Given the description of an element on the screen output the (x, y) to click on. 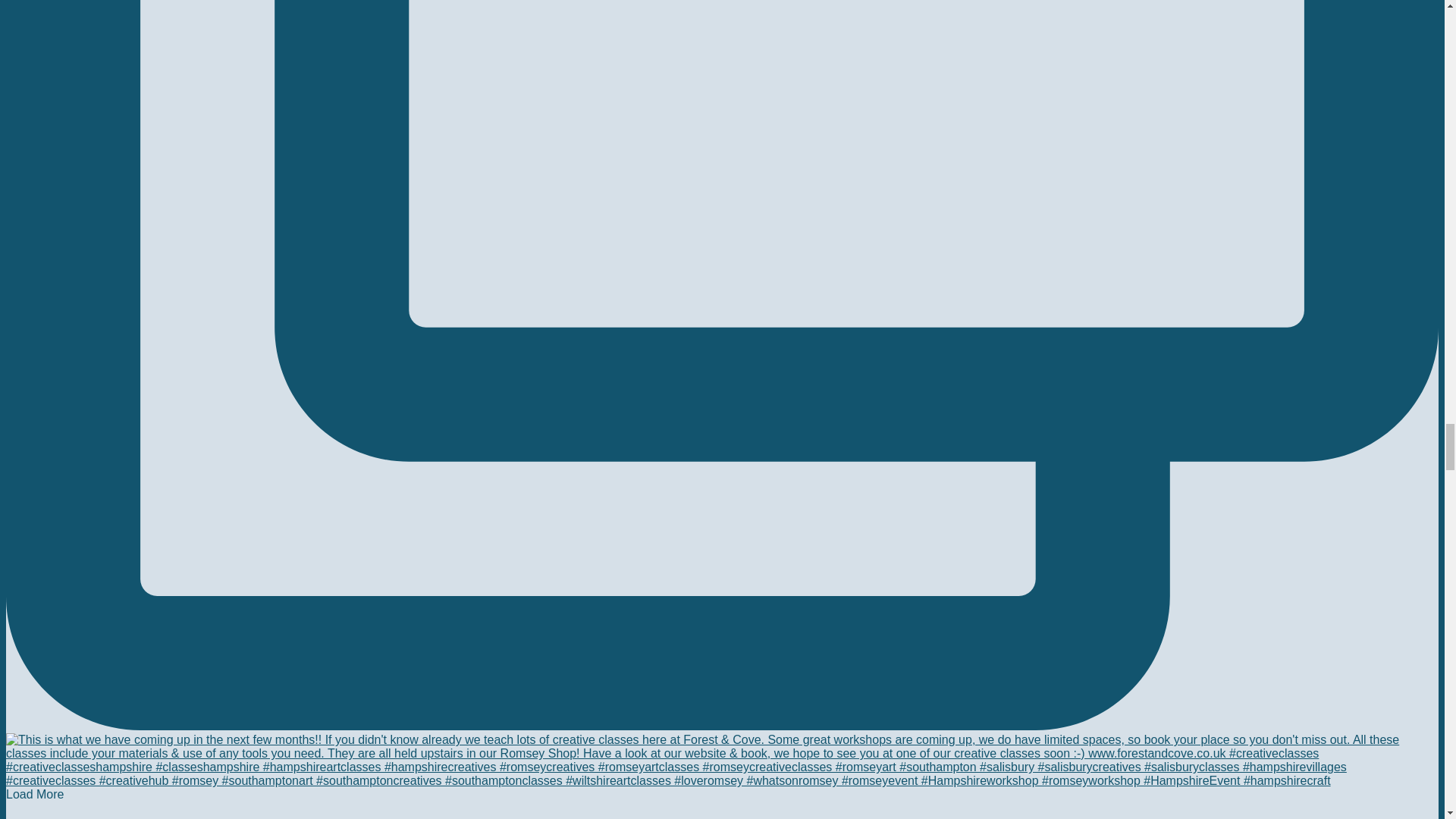
Load More (34, 793)
